Given the description of an element on the screen output the (x, y) to click on. 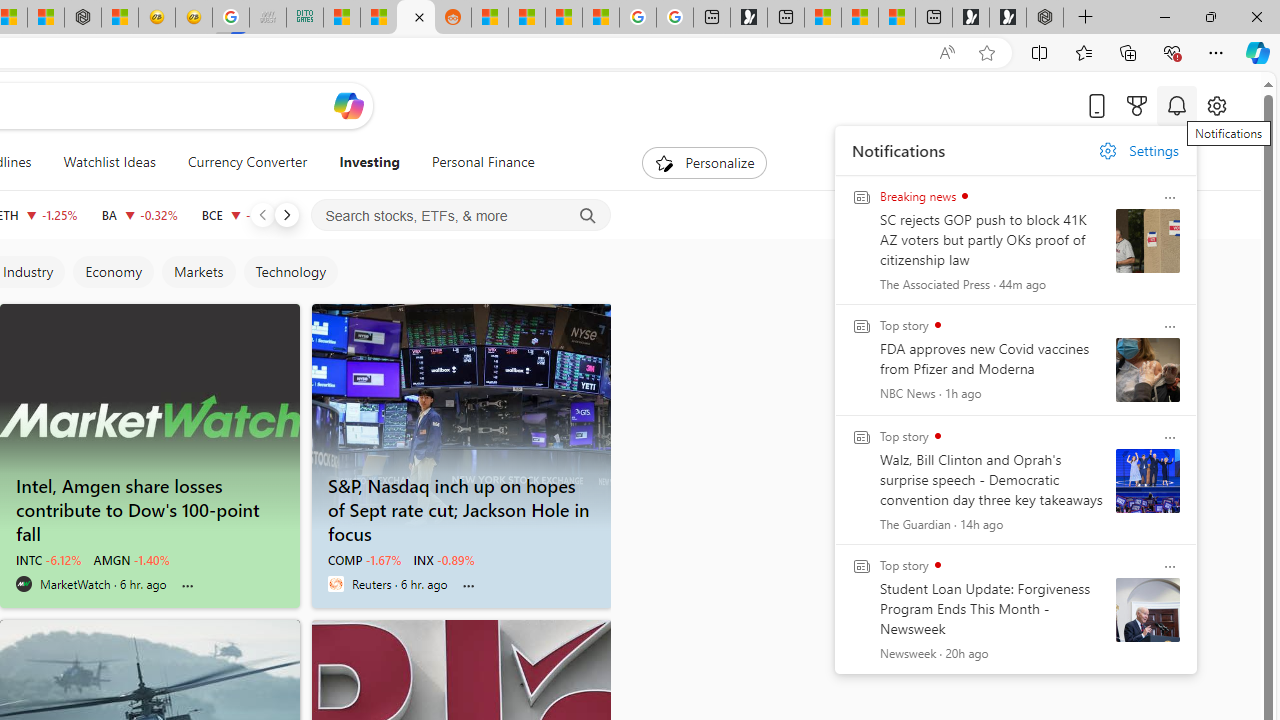
MarketWatch (23, 583)
INTC -6.12% (48, 560)
DITOGAMES AG Imprint (304, 17)
Reuters (335, 583)
BCE BCE Inc decrease 34.55 -0.07 -0.20% (242, 214)
Nordace - #1 Japanese Best-Seller - Siena Smart Backpack (83, 17)
Previous (262, 214)
R******* | Trusted Community Engagement and Contributions (490, 17)
Personal Finance (474, 162)
